Given the description of an element on the screen output the (x, y) to click on. 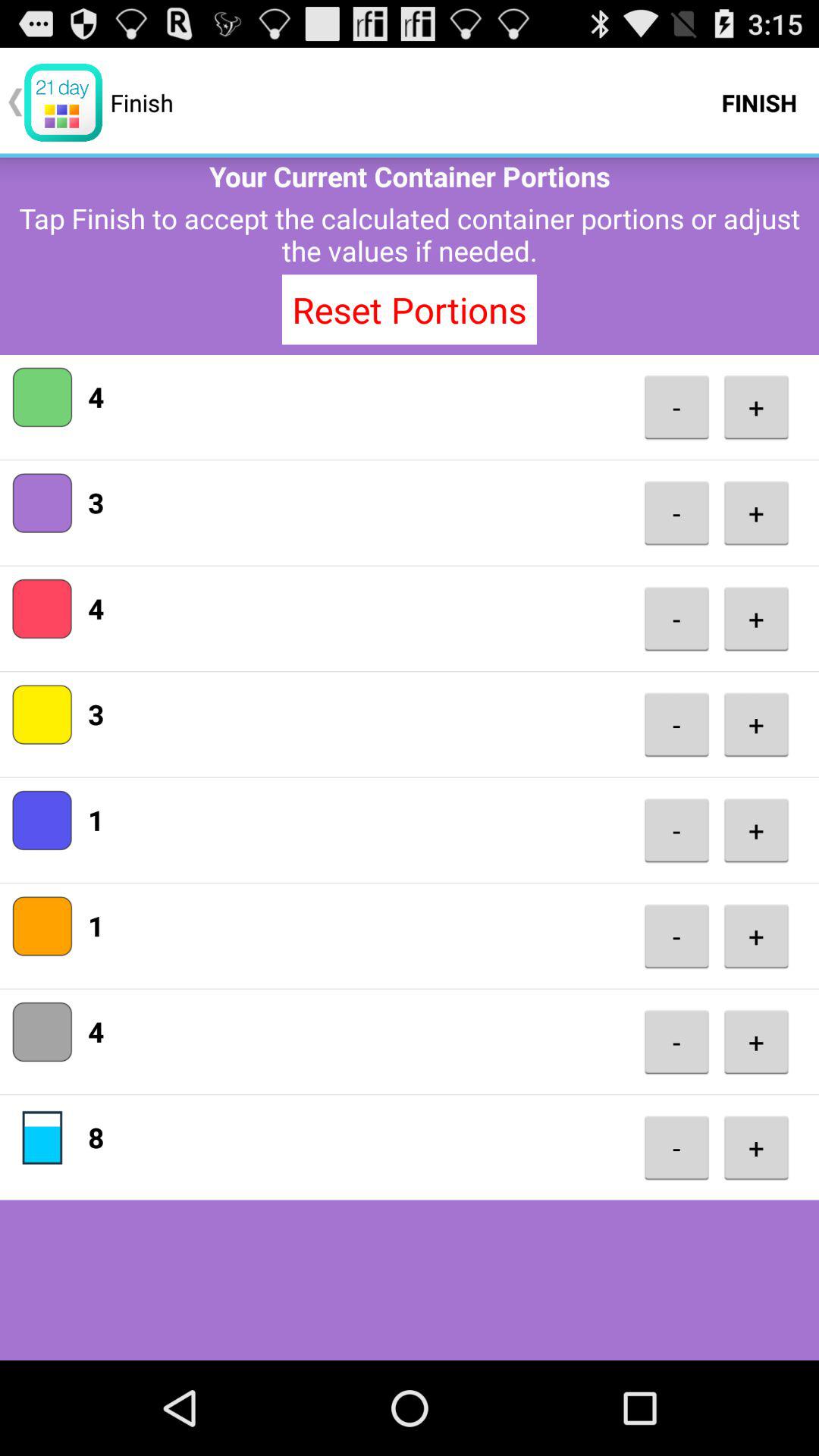
launch the icon next to the 4 app (676, 618)
